Given the description of an element on the screen output the (x, y) to click on. 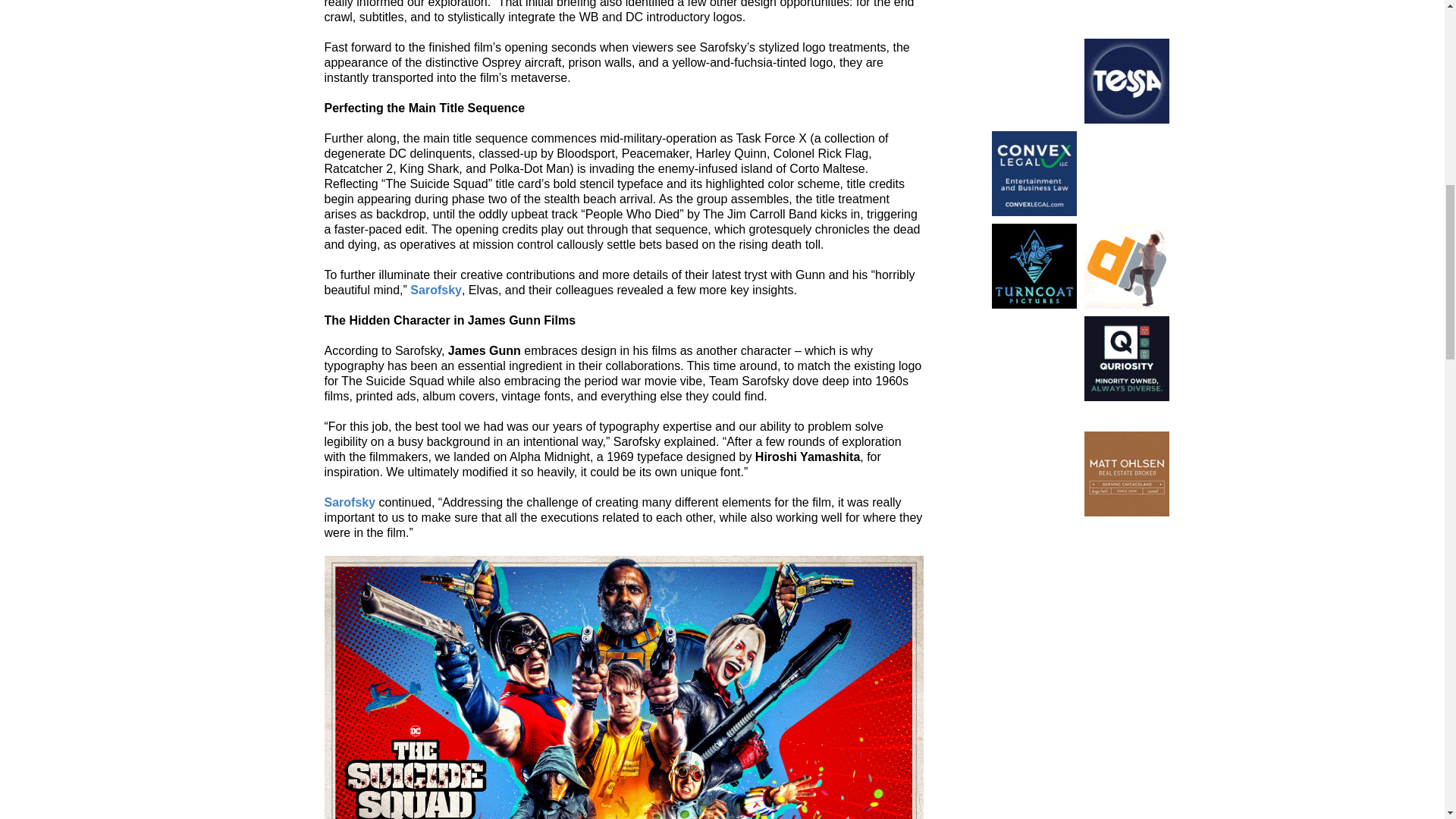
Sarofsky (349, 502)
Sarofsky (435, 289)
